Given the description of an element on the screen output the (x, y) to click on. 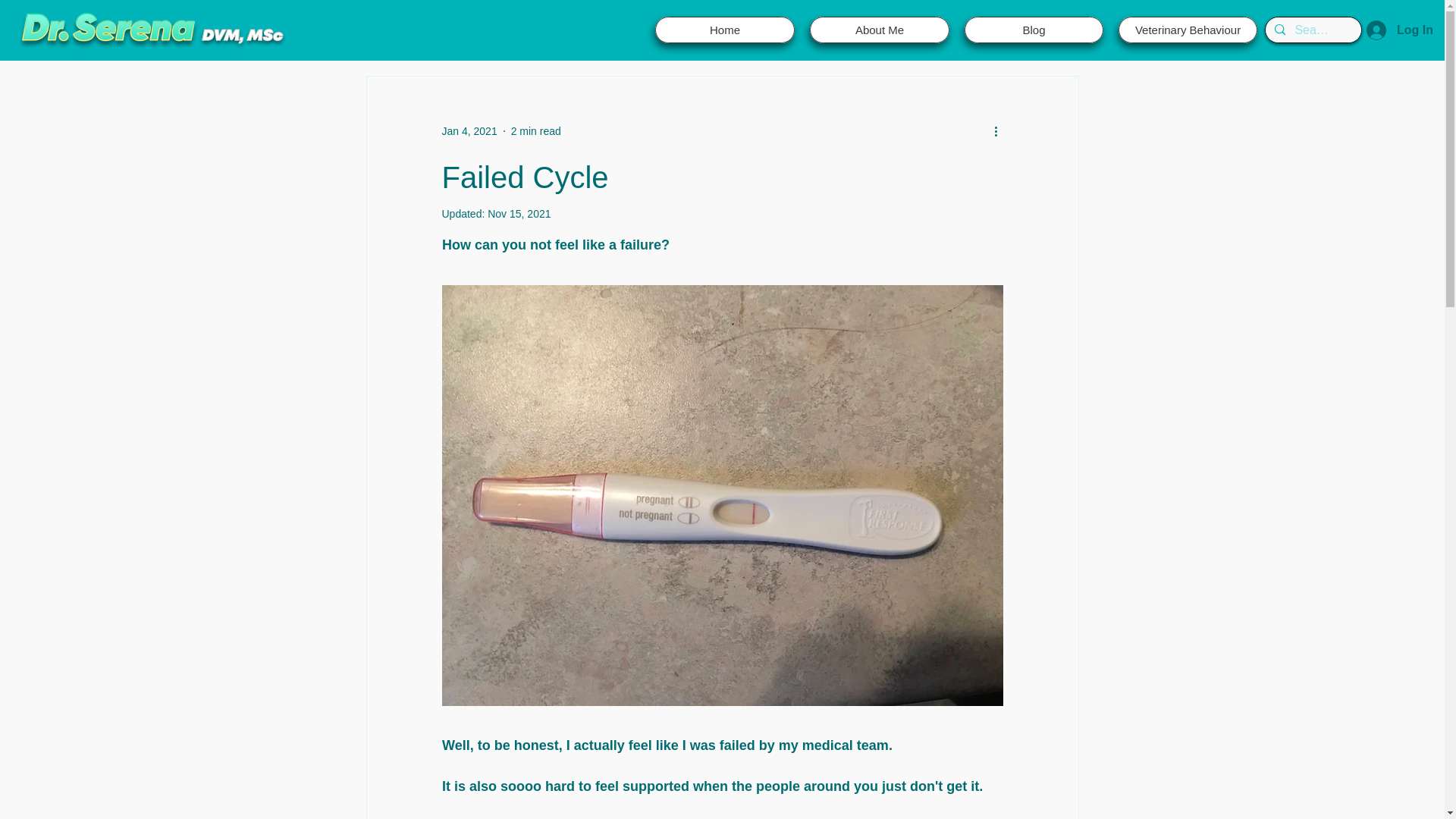
Jan 4, 2021 (468, 130)
2 min read (535, 130)
About Me (879, 29)
Blog (1033, 29)
Home (724, 29)
Log In (1399, 30)
Nov 15, 2021 (518, 214)
Veterinary Behaviour (1187, 29)
